Given the description of an element on the screen output the (x, y) to click on. 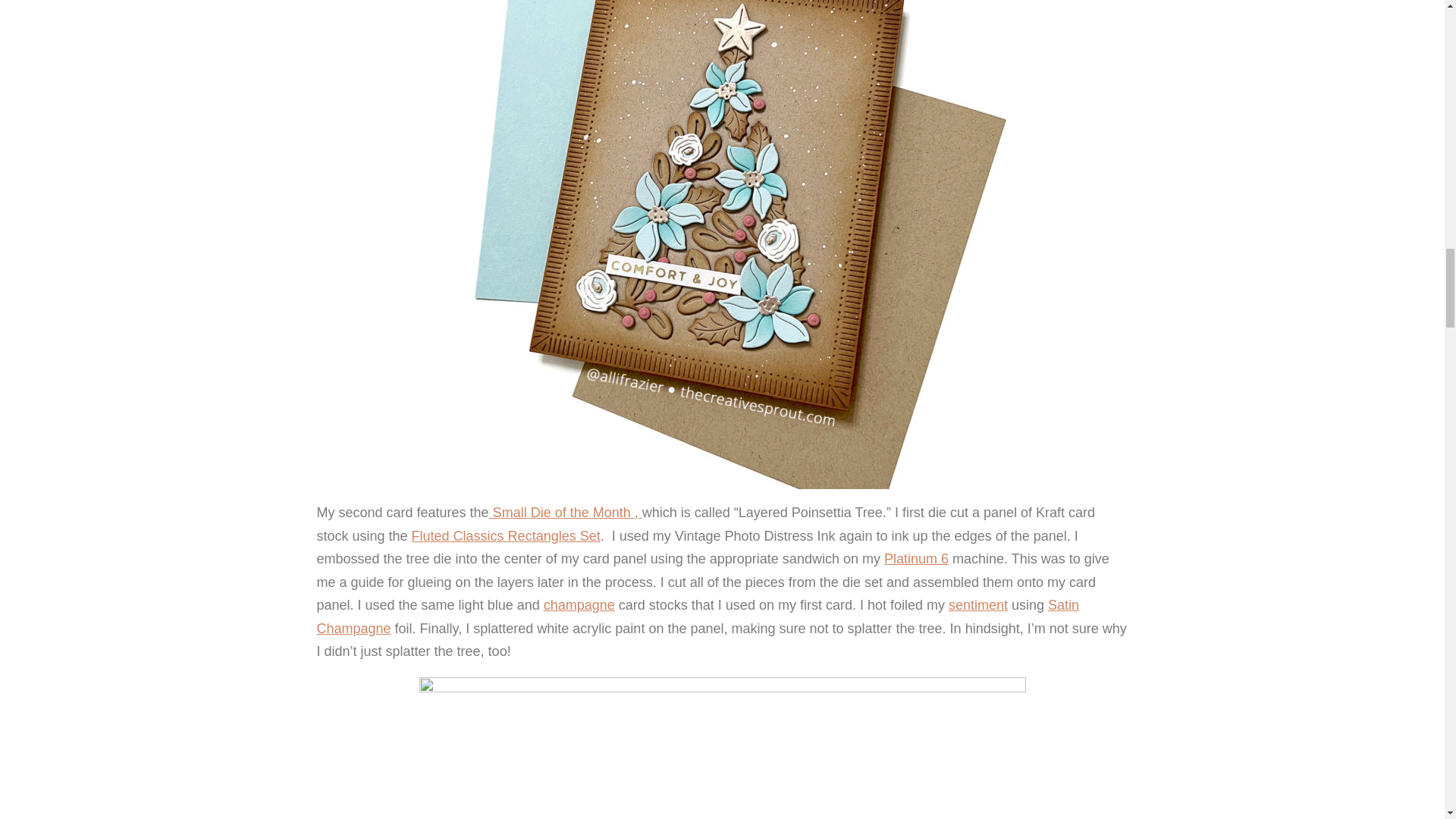
Fluted Classics Rectangles Set (505, 534)
Platinum 6 (916, 558)
Small Die of the Month , (565, 512)
